Given the description of an element on the screen output the (x, y) to click on. 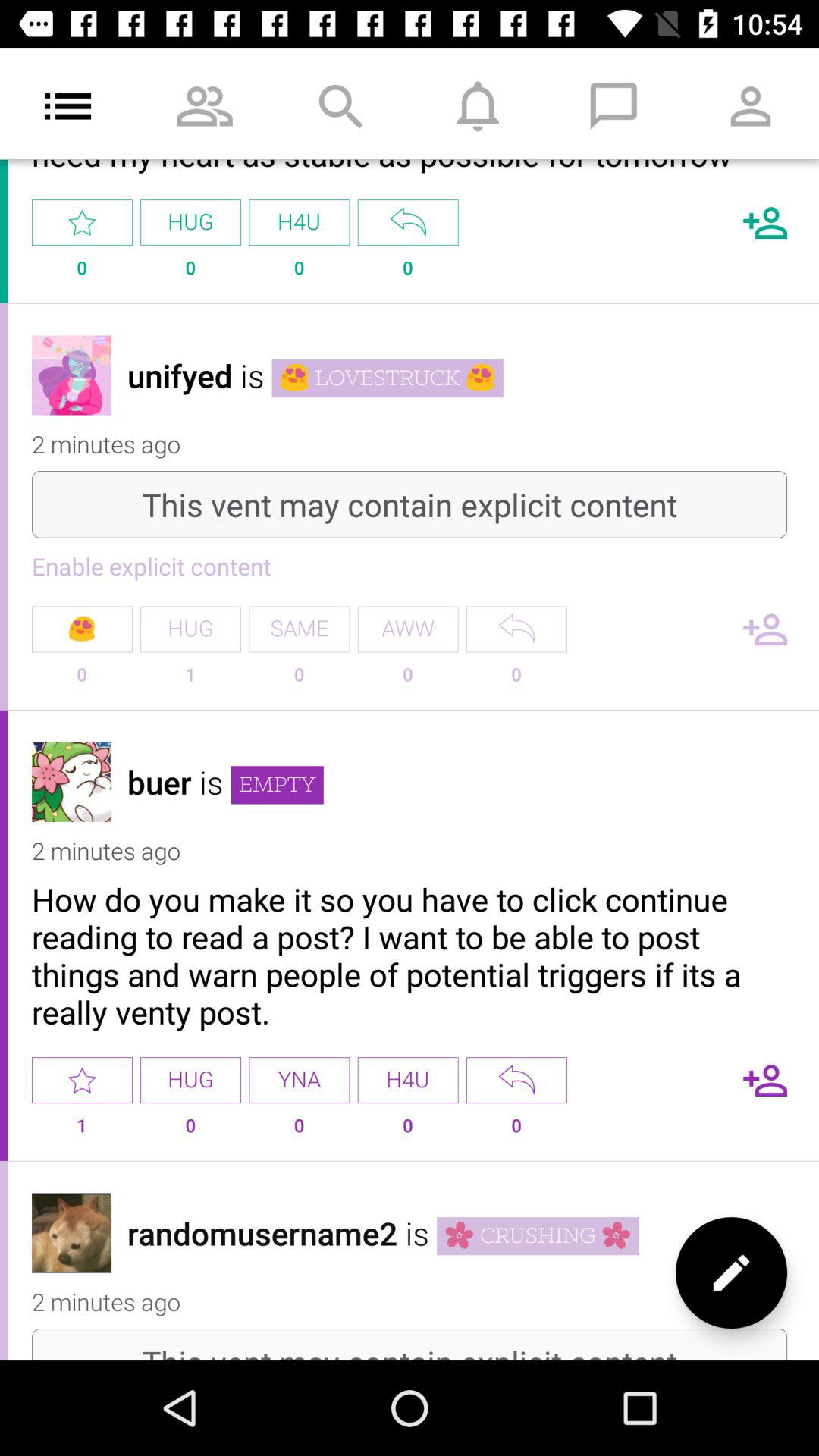
more contact adding button (765, 222)
